Given the description of an element on the screen output the (x, y) to click on. 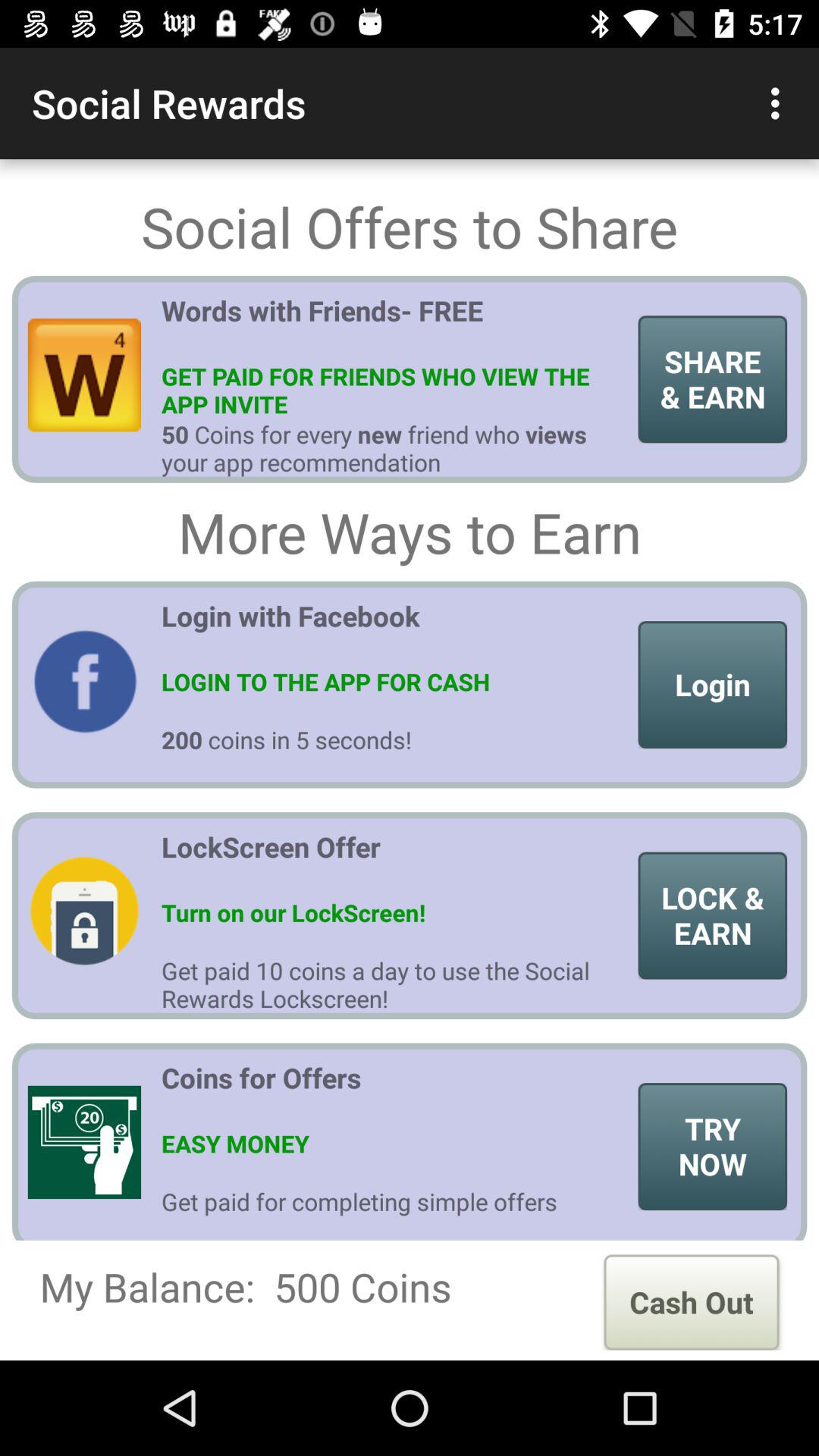
flip to words with friends item (394, 324)
